Given the description of an element on the screen output the (x, y) to click on. 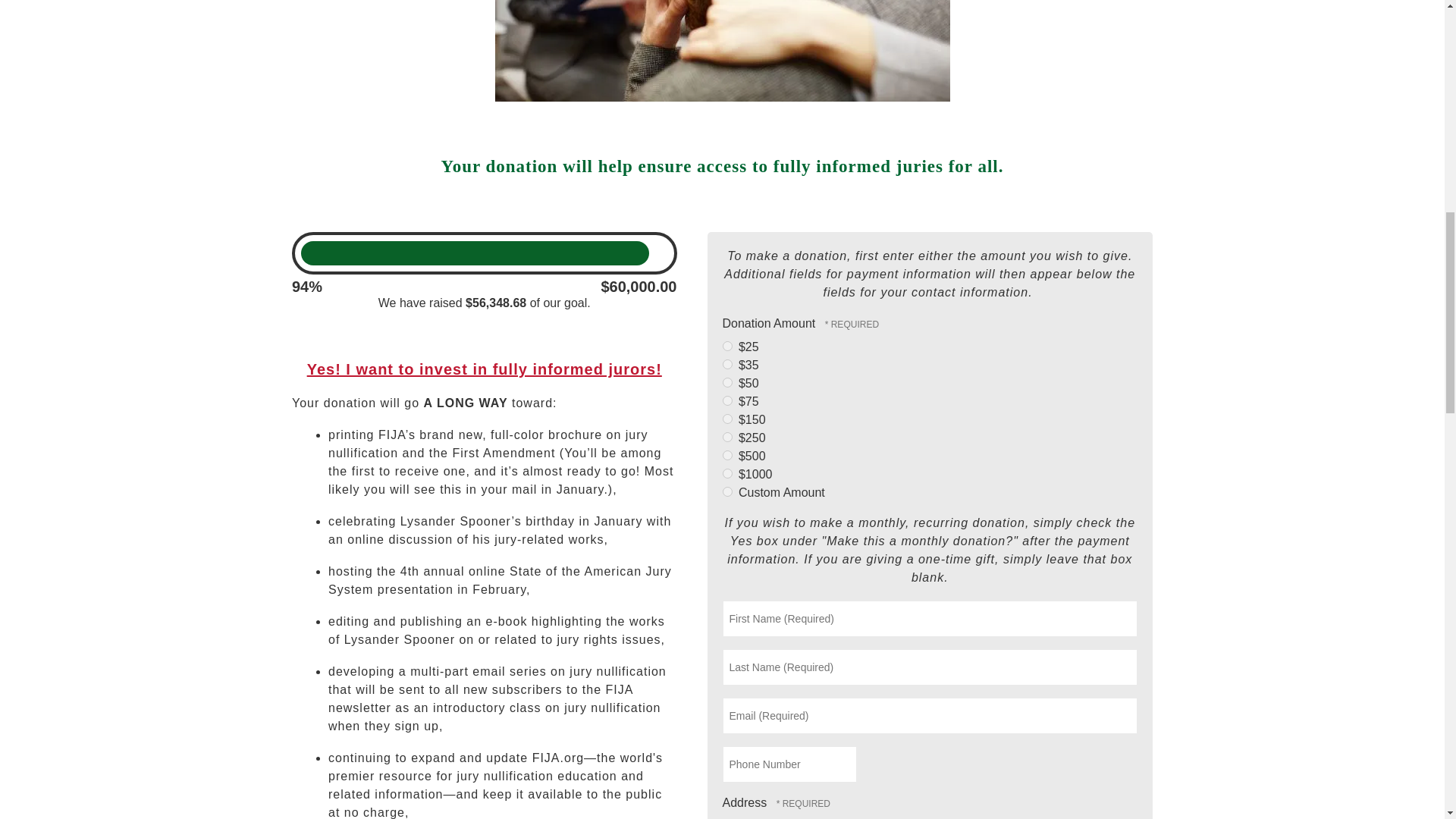
25 (727, 346)
500 (727, 455)
35 (727, 364)
75 (727, 400)
150 (727, 419)
250 (727, 437)
1000 (727, 473)
50 (727, 382)
